Given the description of an element on the screen output the (x, y) to click on. 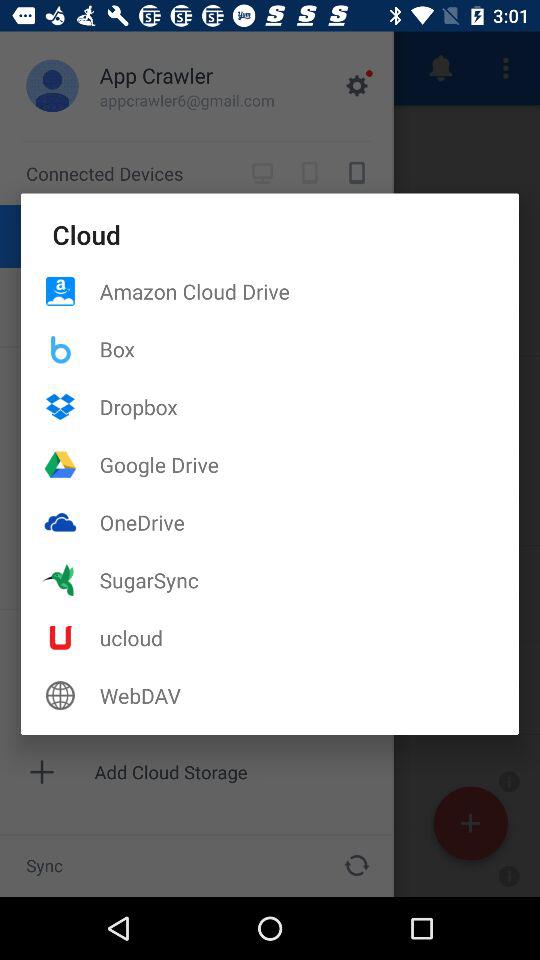
choose sugarsync (309, 579)
